Given the description of an element on the screen output the (x, y) to click on. 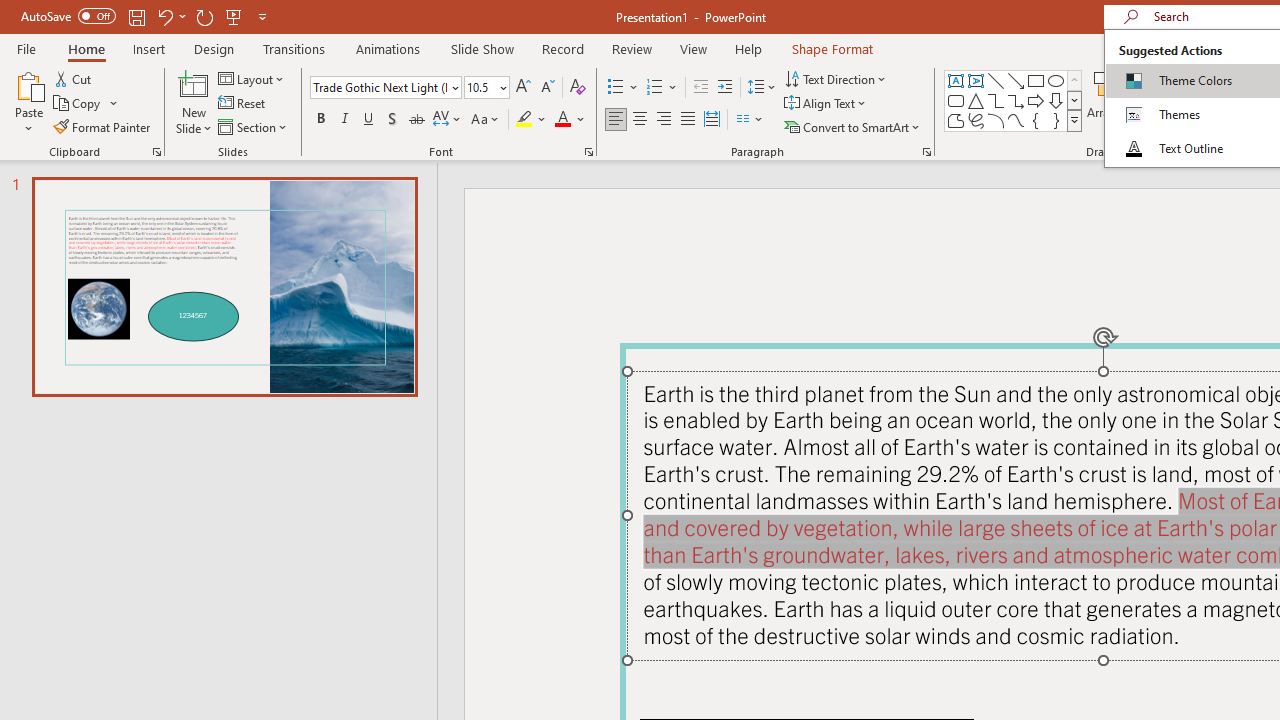
Shape Outline Teal, Accent 1 (1188, 101)
